Given the description of an element on the screen output the (x, y) to click on. 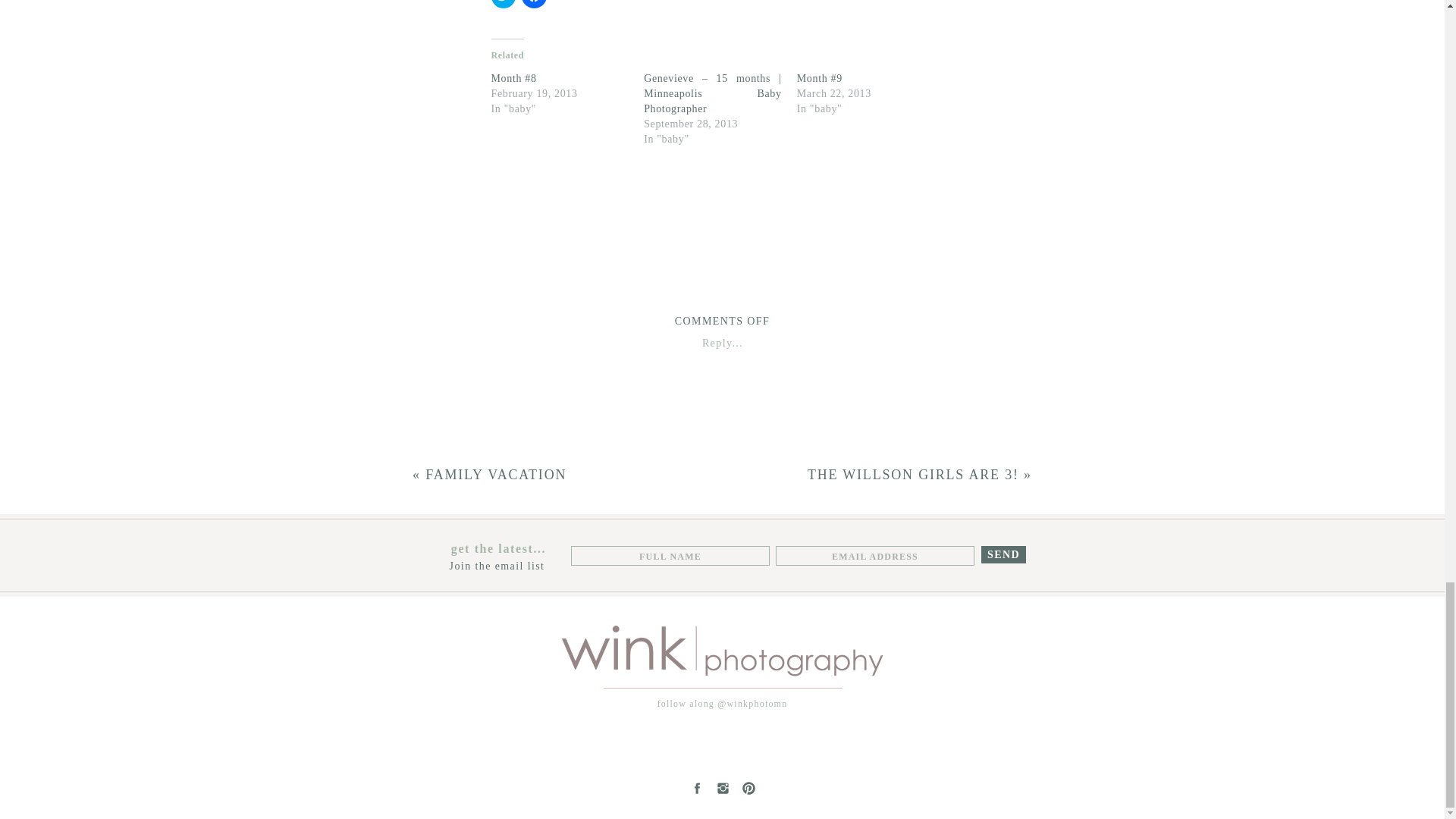
THE WILLSON GIRLS ARE 3! (913, 474)
Click to share on Facebook (534, 4)
FAMILY VACATION (495, 474)
SEND (1003, 554)
Click to share on Twitter (504, 4)
